Given the description of an element on the screen output the (x, y) to click on. 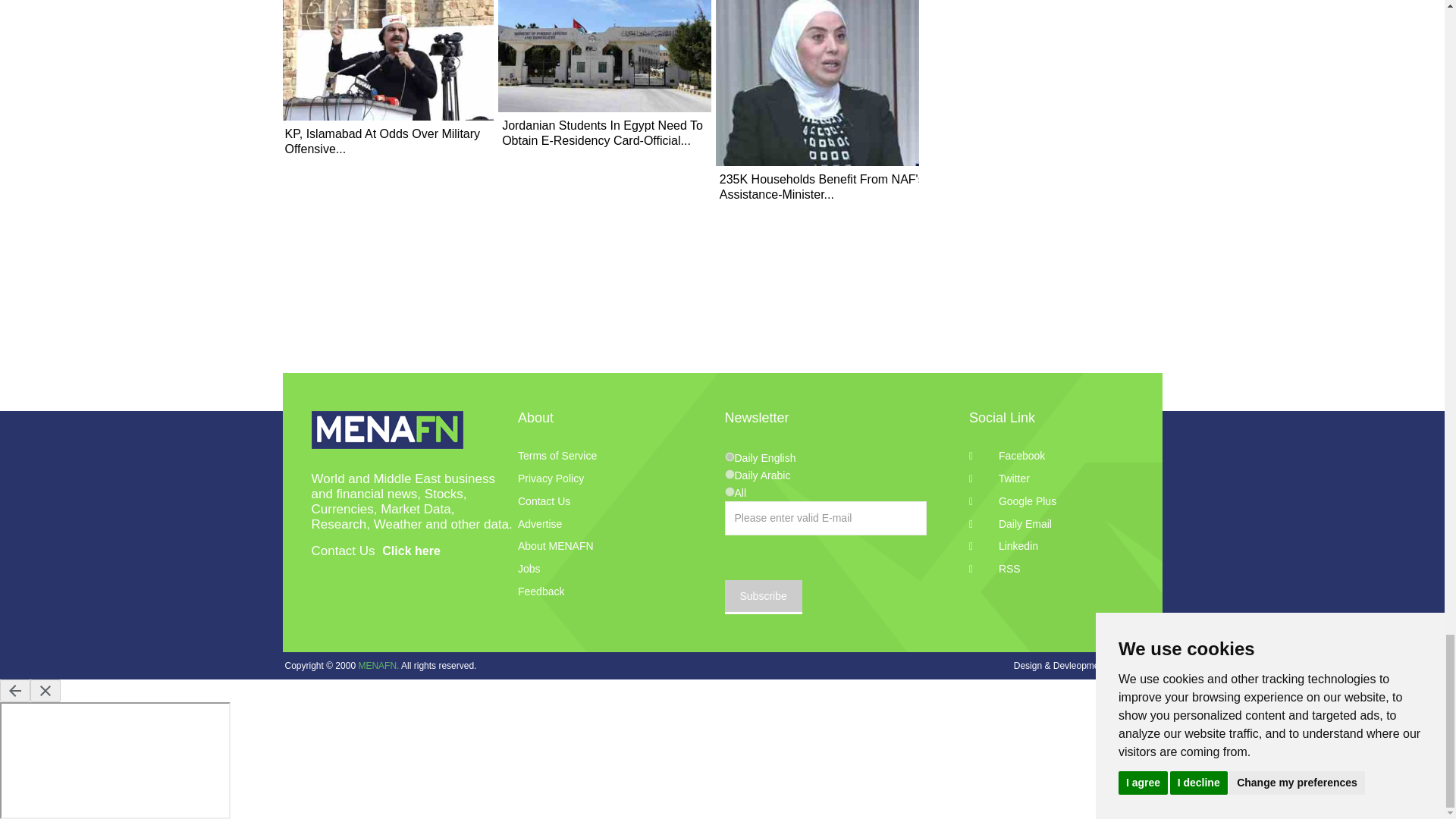
Subscribe (763, 596)
